Given the description of an element on the screen output the (x, y) to click on. 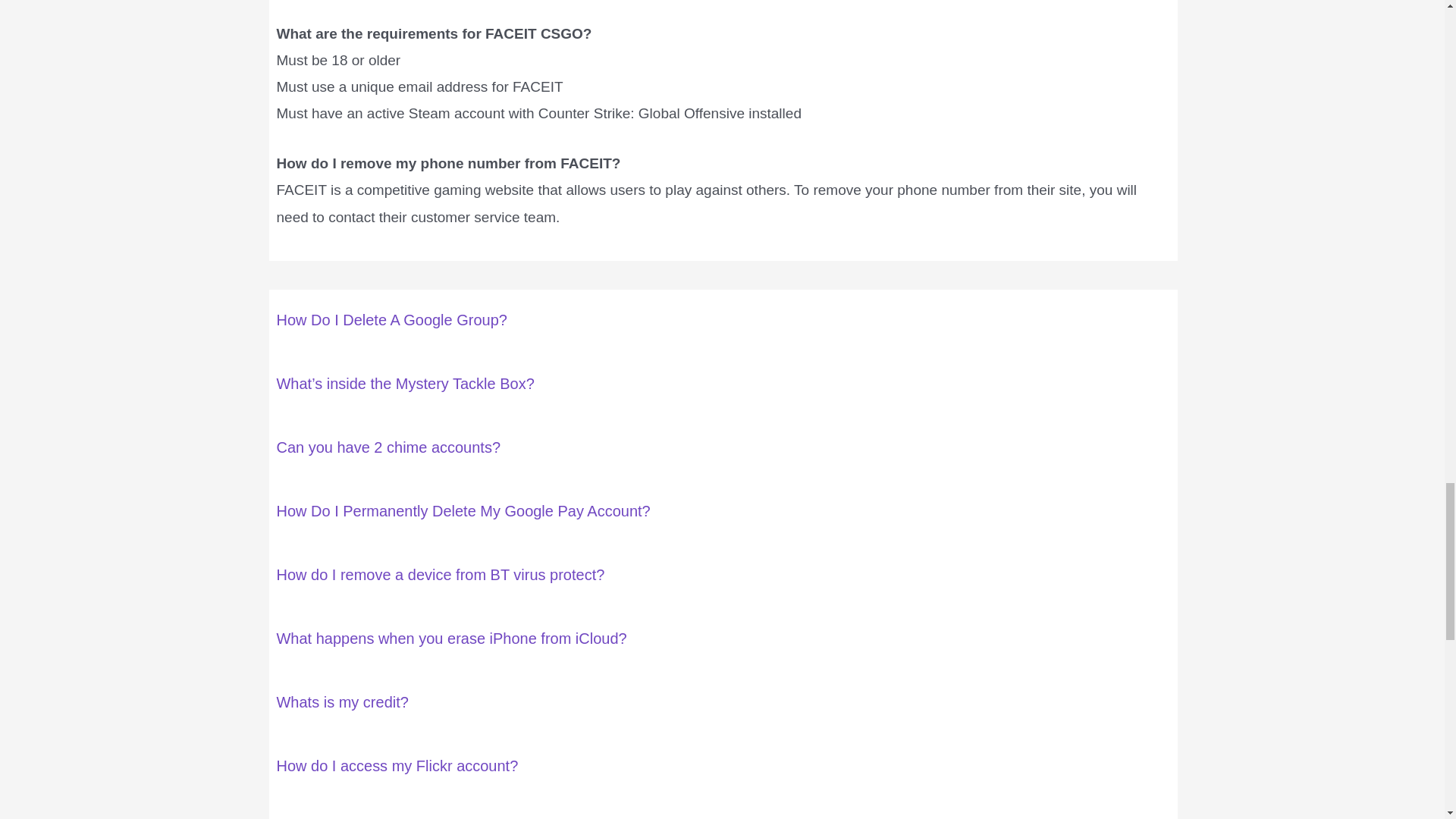
How do I remove a device from BT virus protect? (440, 574)
How do I access my Flickr account? (397, 765)
How Do I Permanently Delete My Google Pay Account? (462, 510)
Whats is my credit? (341, 701)
What happens when you erase iPhone from iCloud? (451, 638)
How Do I Delete A Google Group? (391, 320)
Can you have 2 chime accounts? (388, 446)
